Given the description of an element on the screen output the (x, y) to click on. 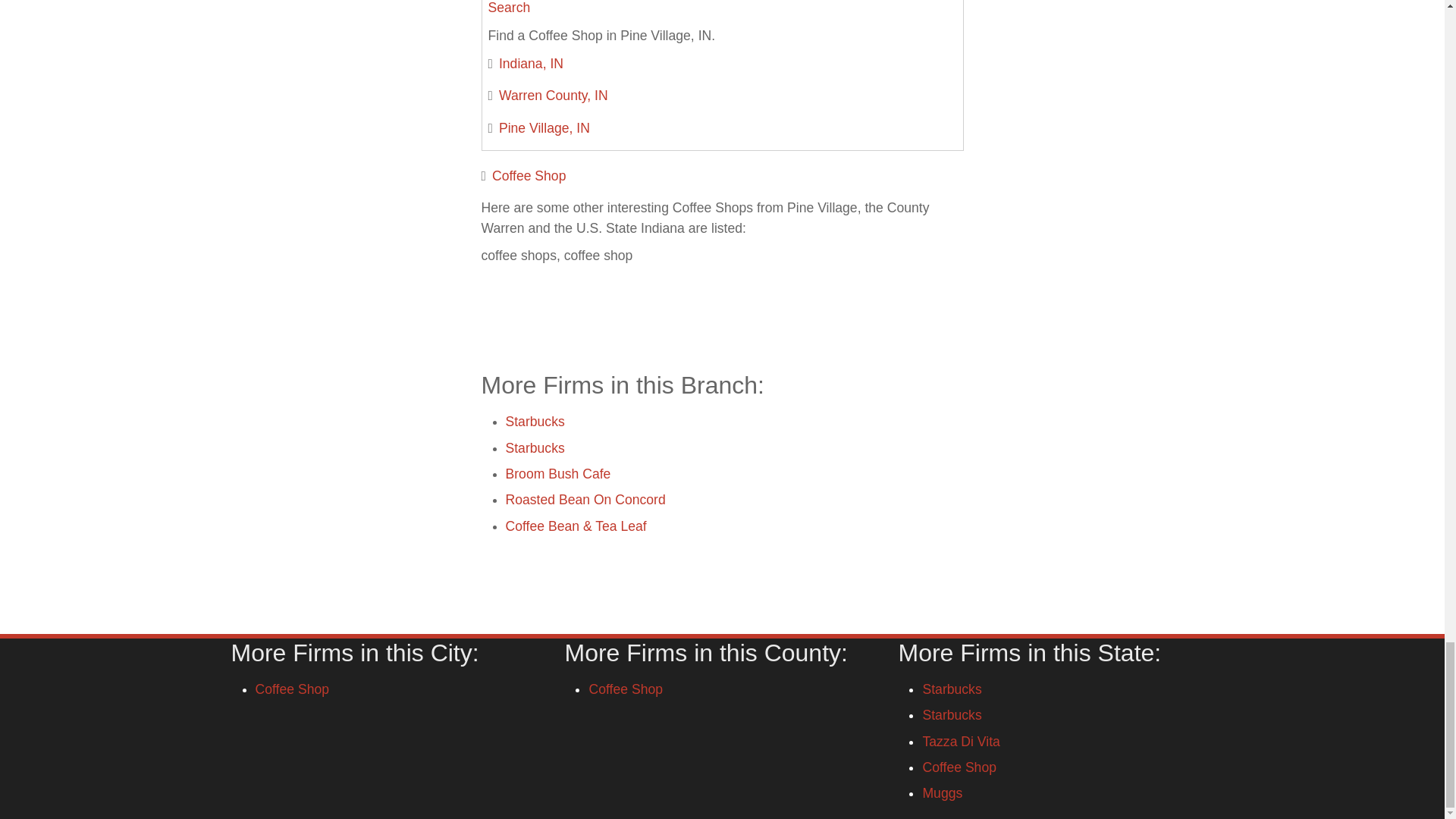
Search (509, 7)
Coffee Shop (529, 175)
Starbucks (534, 421)
Roasted Bean On Concord (585, 499)
Indiana, IN (531, 63)
Starbucks (534, 447)
Warren County, IN (553, 95)
Pine Village, IN (544, 127)
Broom Bush Cafe (557, 473)
